Given the description of an element on the screen output the (x, y) to click on. 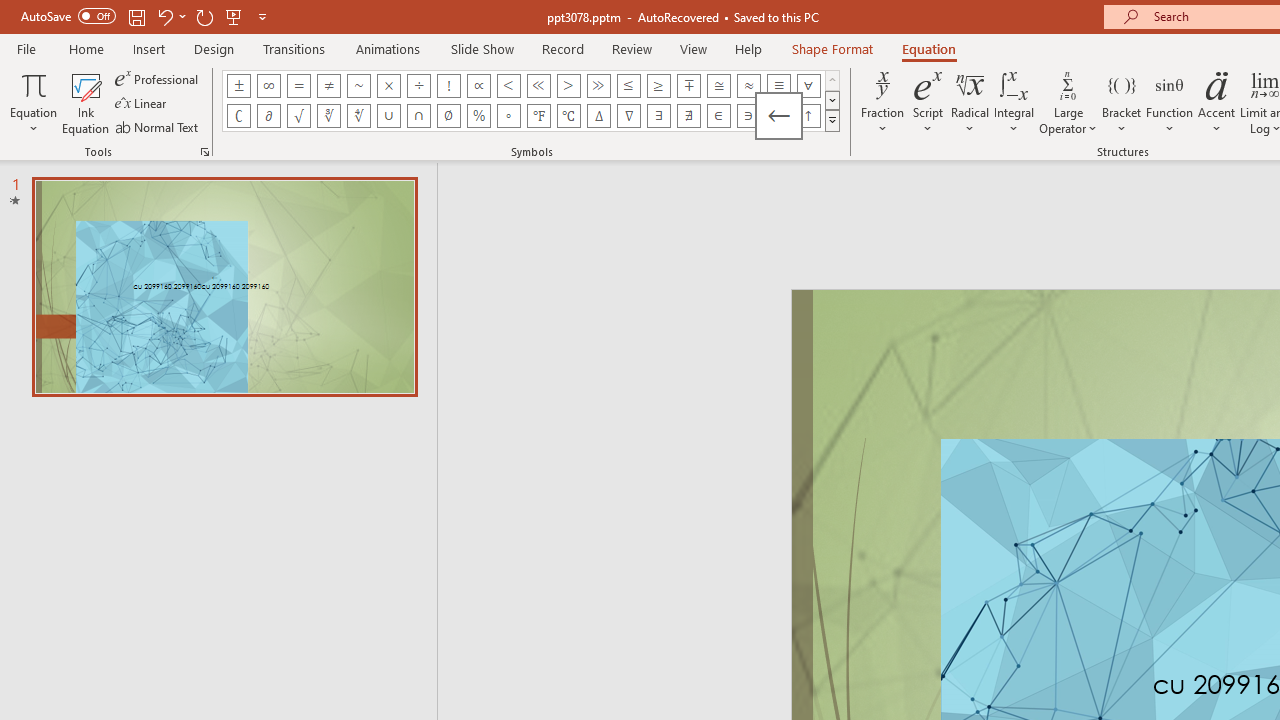
Equation Symbol Degrees Fahrenheit (538, 115)
Equation Symbol Left Arrow (778, 115)
Accent (1216, 102)
Equation Symbol Infinity (268, 85)
Equation Symbol Division Sign (418, 85)
Equation Symbol There Does Not Exist (689, 115)
Equation Symbol Much Less Than (538, 85)
Integral (1014, 102)
Professional (158, 78)
Equation Symbol Complement (238, 115)
Equation Symbol Greater Than or Equal To (658, 85)
Equation (33, 102)
Equation Symbol Cube Root (328, 115)
